Given the description of an element on the screen output the (x, y) to click on. 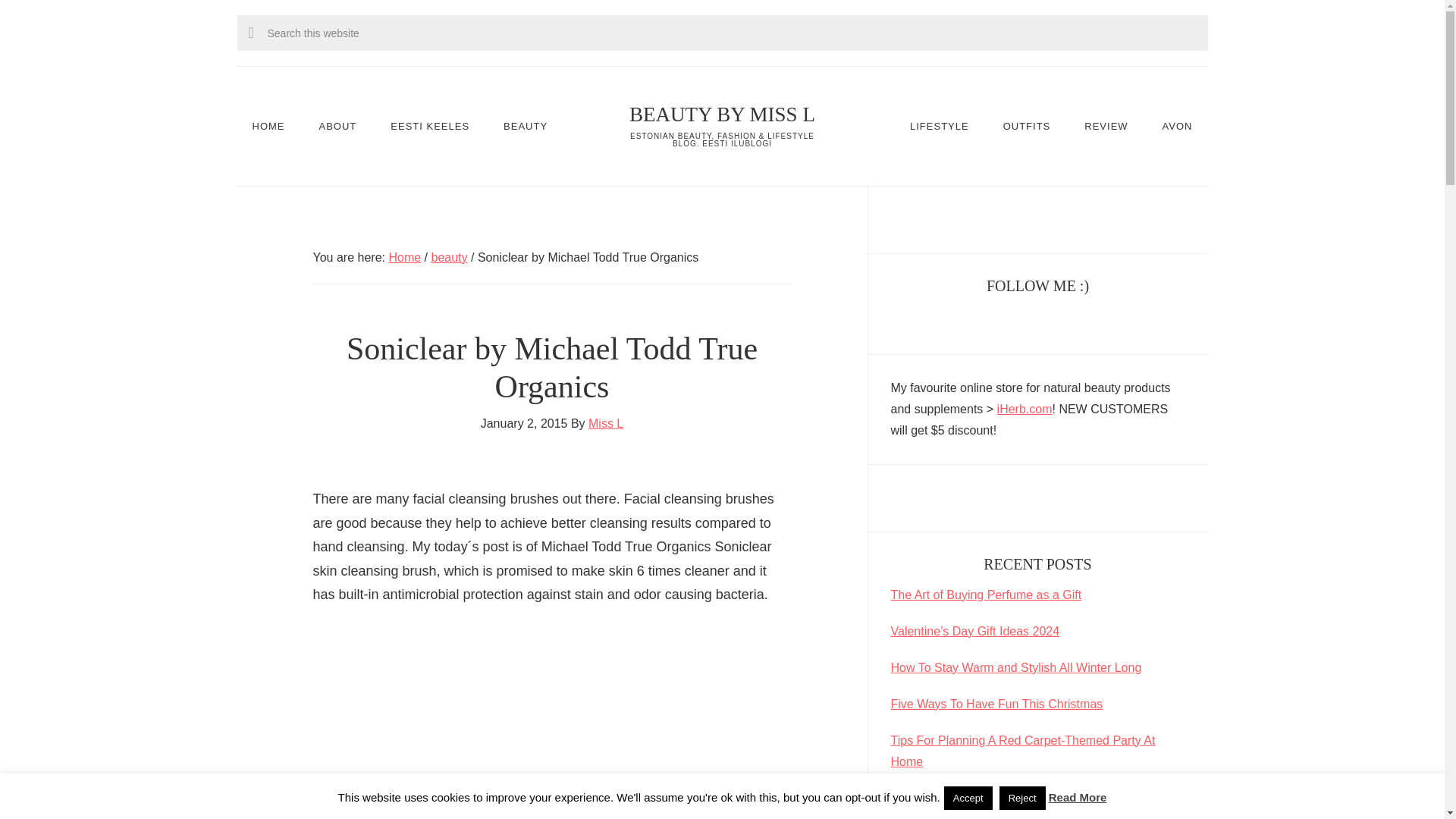
BEAUTY BY MISS L (721, 114)
HOME (267, 126)
REVIEW (1105, 126)
OUTFITS (1026, 126)
ABOUT (338, 126)
LIFESTYLE (939, 126)
AVON (1177, 126)
EESTI KEELES (429, 126)
BEAUTY (524, 126)
